Given the description of an element on the screen output the (x, y) to click on. 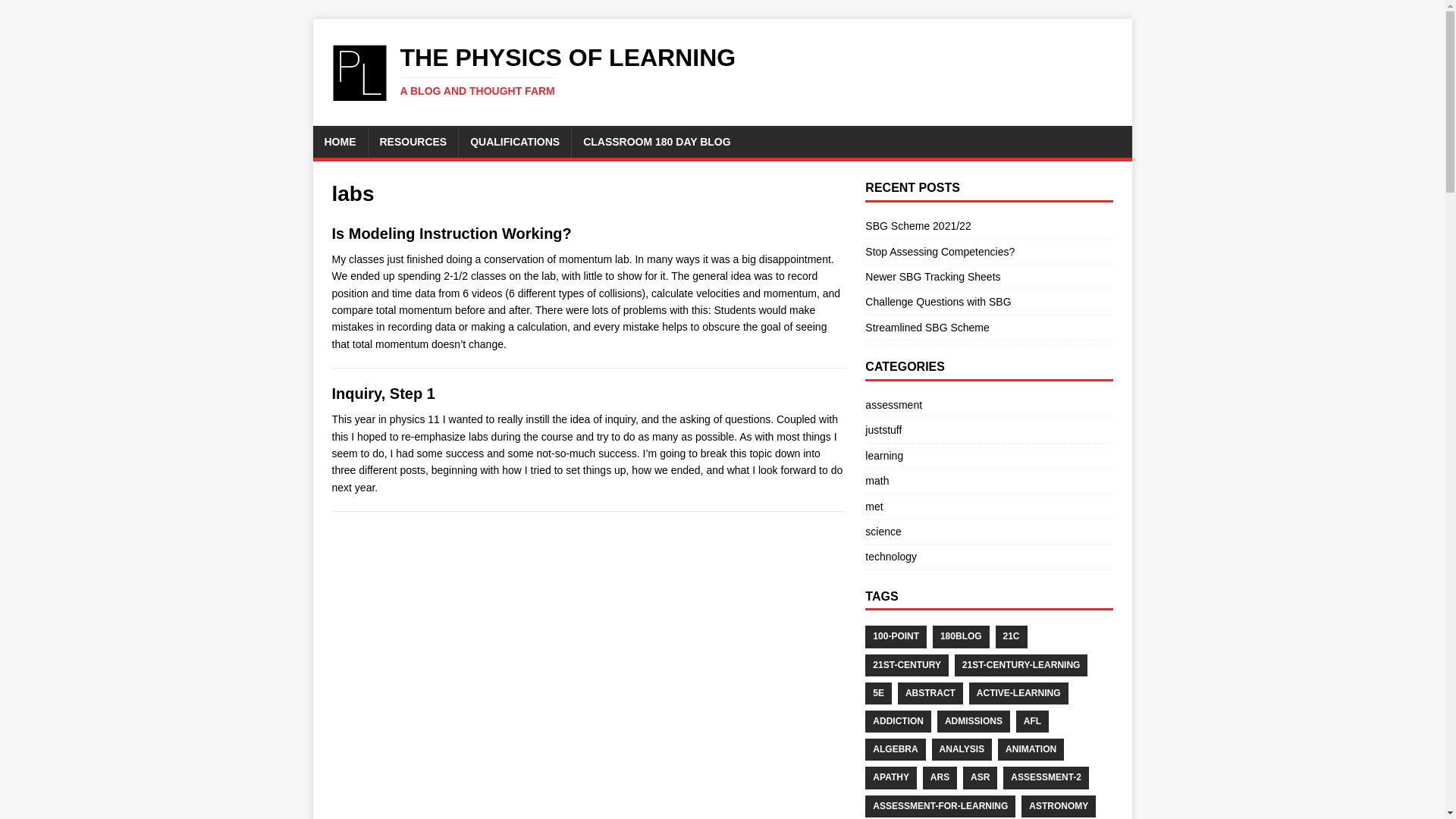
21c (1011, 636)
science (882, 531)
QUALIFICATIONS (514, 142)
Stop Assessing Competencies? (939, 251)
100-point (895, 636)
math (876, 480)
ADMISSIONS (973, 721)
Streamlined SBG Scheme (926, 327)
21ST-CENTURY-LEARNING (1021, 665)
ASTRONOMY (1059, 806)
juststuff (882, 429)
abstract (930, 693)
learning (883, 455)
21st-century (906, 665)
APATHY (890, 777)
